Given the description of an element on the screen output the (x, y) to click on. 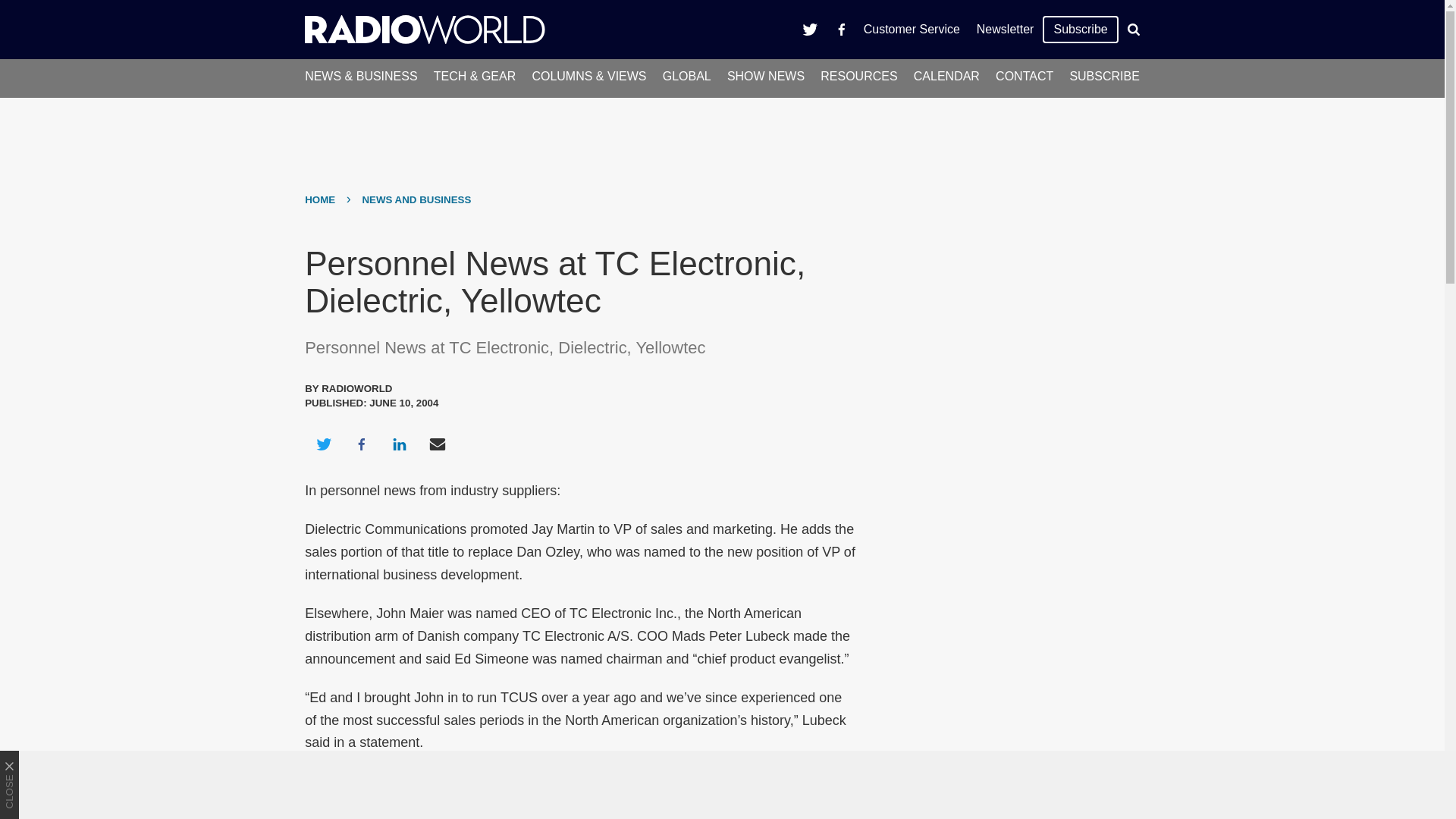
Share on Facebook (361, 444)
Customer Service (912, 29)
Share on LinkedIn (399, 444)
Share on Twitter (323, 444)
Share via Email (438, 444)
